Given the description of an element on the screen output the (x, y) to click on. 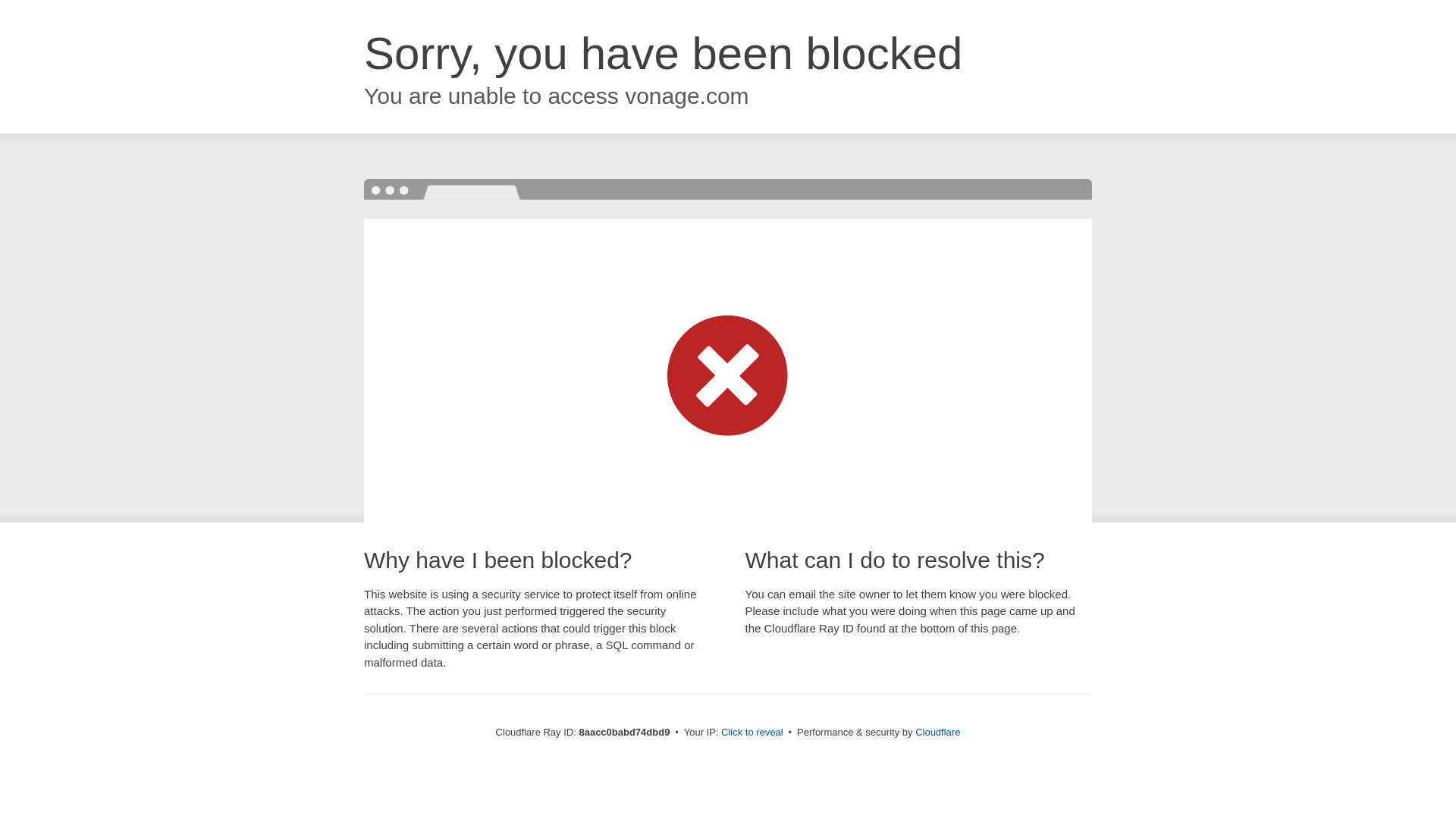
Cloudflare (937, 731)
Click to reveal (751, 732)
